Given the description of an element on the screen output the (x, y) to click on. 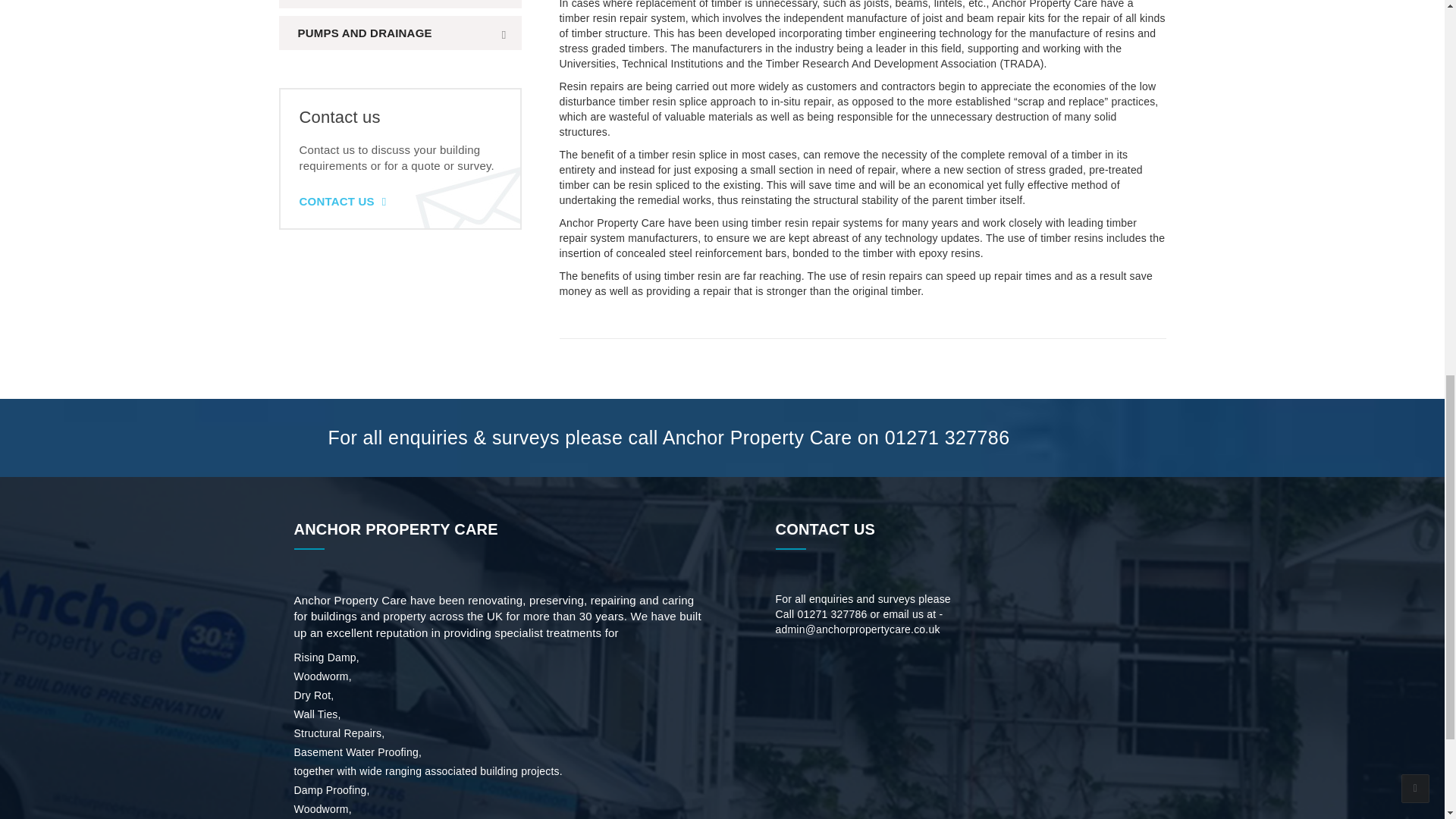
CAVITY MEMBRANE (400, 4)
PUMPS AND DRAINAGE (400, 32)
CONTACT US (341, 201)
